Given the description of an element on the screen output the (x, y) to click on. 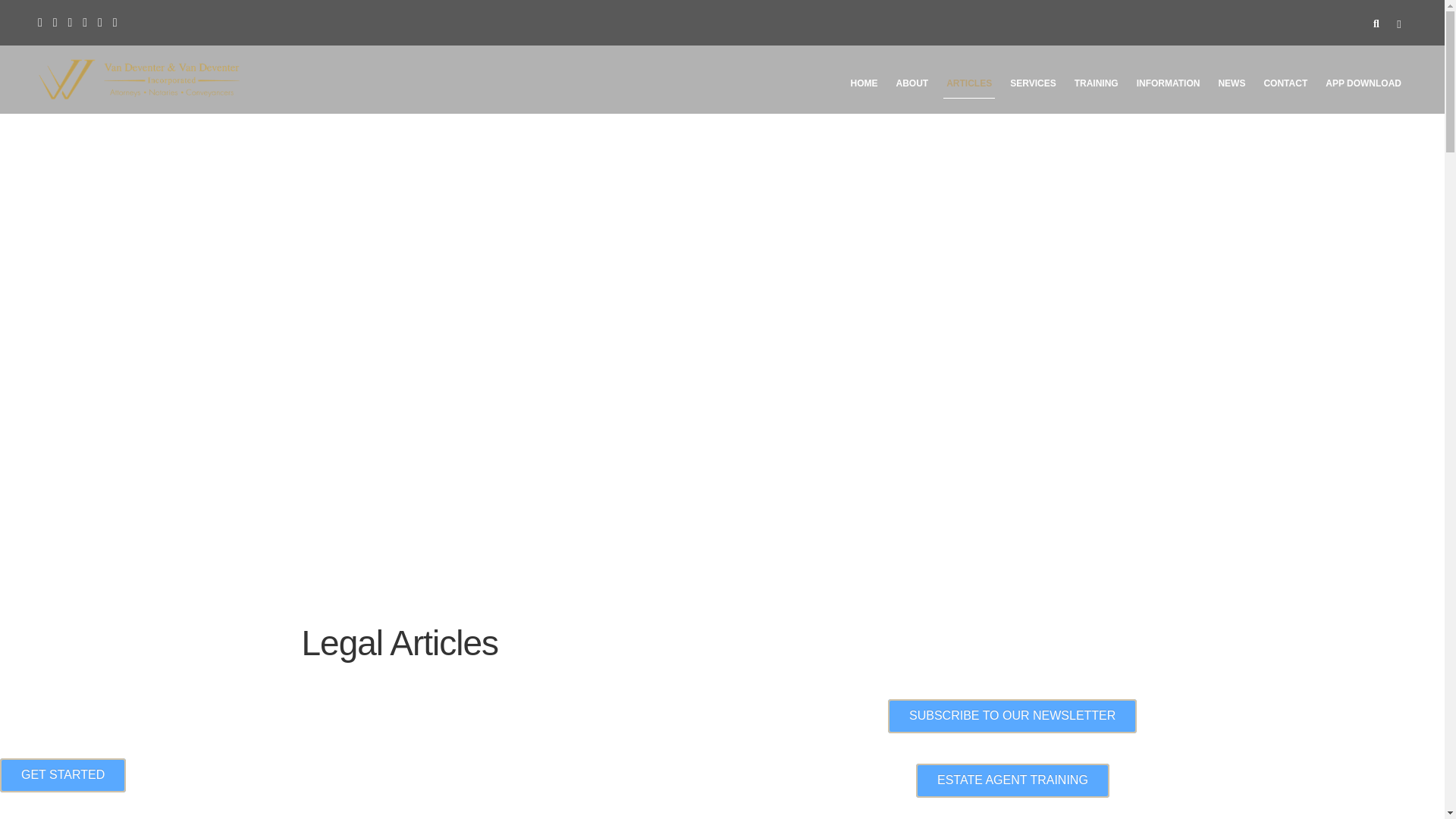
ABOUT (912, 87)
Youtube (114, 21)
TRAINING (1096, 87)
Twitter (100, 21)
HOME (863, 87)
Linkedin (69, 21)
SERVICES (1032, 87)
RSS (84, 21)
Facebook (39, 21)
INFORMATION (1169, 87)
